Given the description of an element on the screen output the (x, y) to click on. 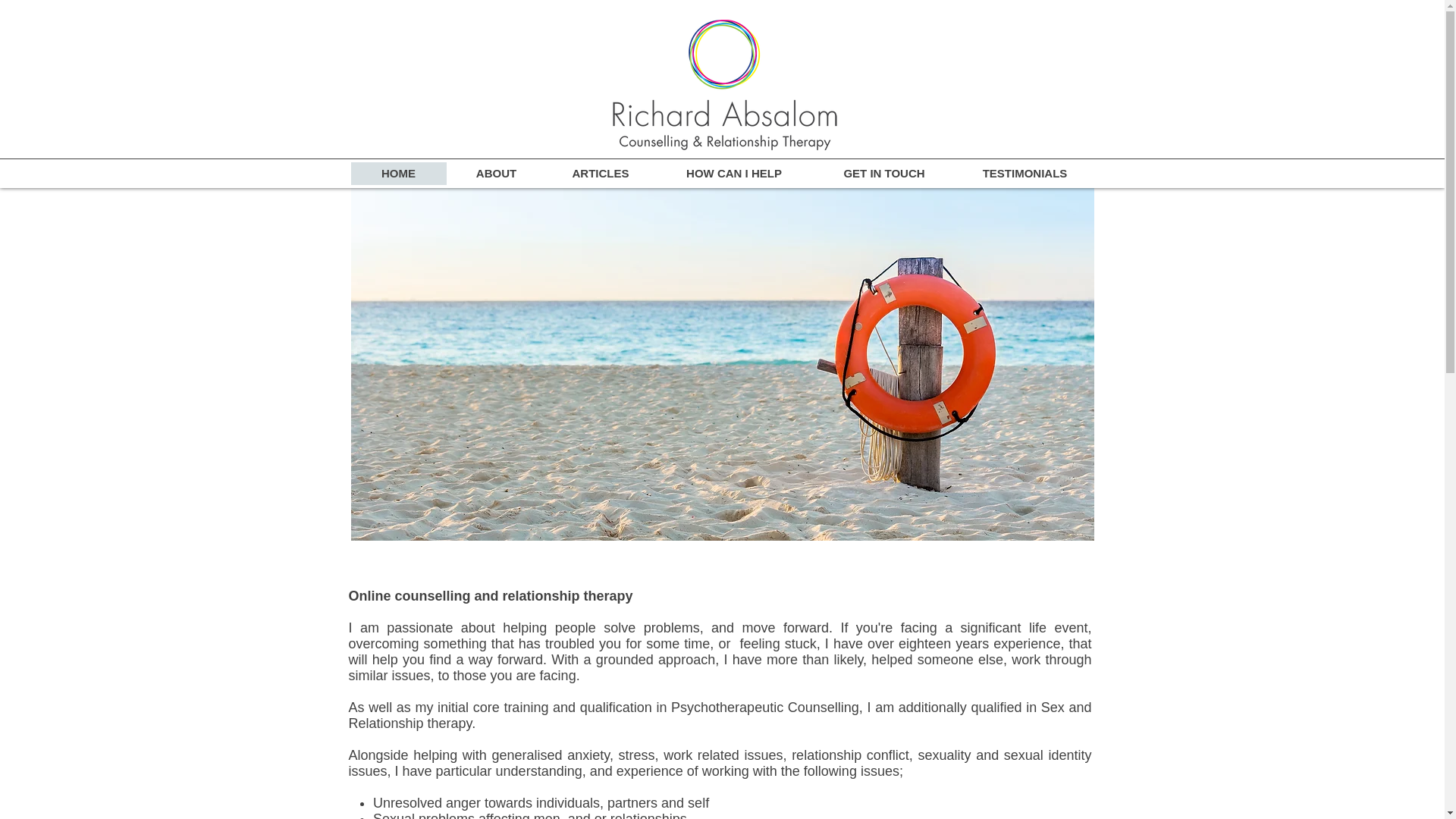
TESTIMONIALS (1024, 173)
ABOUT (494, 173)
GET IN TOUCH (883, 173)
ARTICLES (600, 173)
HOME (397, 173)
